Given the description of an element on the screen output the (x, y) to click on. 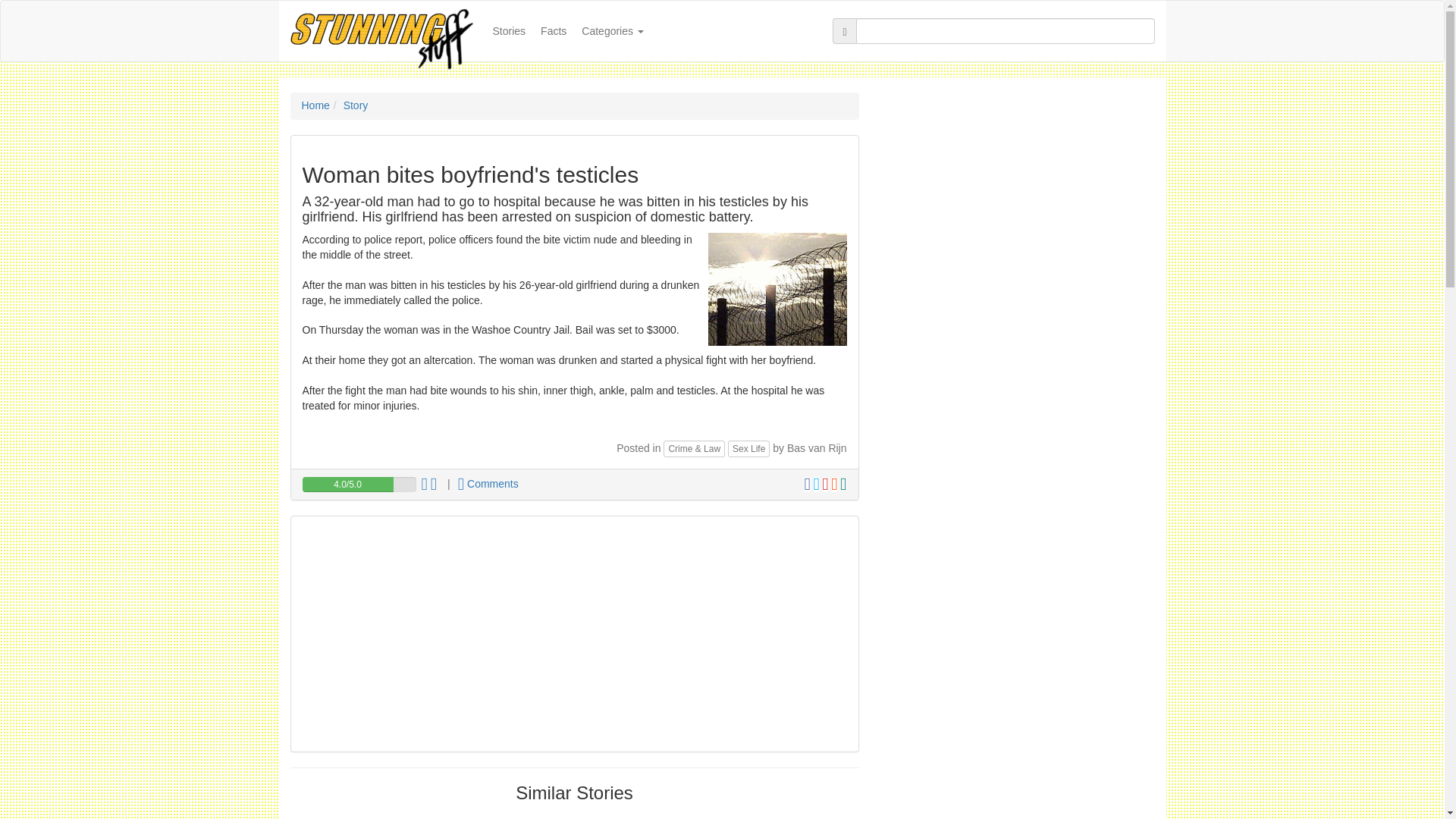
Facts (552, 31)
Advertisement (573, 633)
Home (315, 105)
Sex Life (749, 448)
Story (355, 105)
Comments (488, 483)
Categories (611, 31)
